Given the description of an element on the screen output the (x, y) to click on. 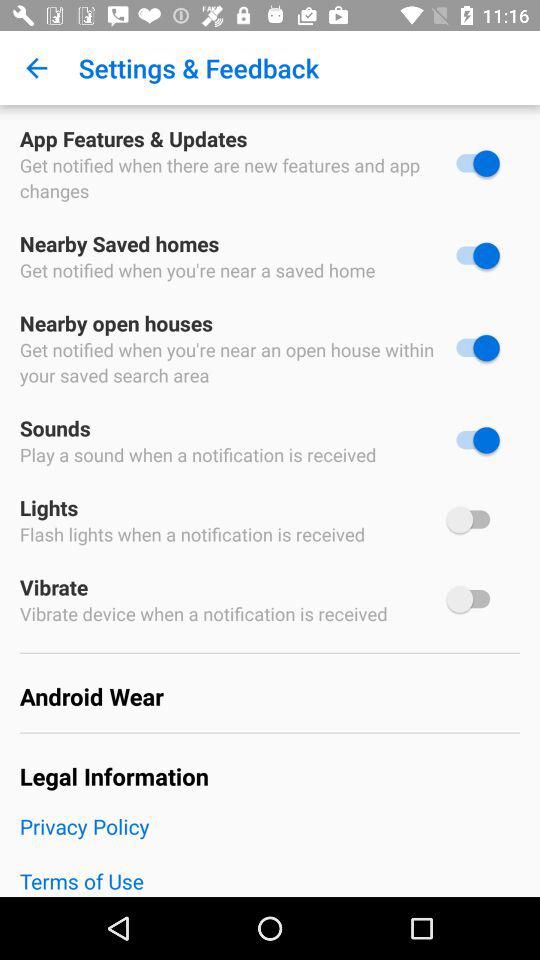
select the icon above the terms of use (269, 839)
